Given the description of an element on the screen output the (x, y) to click on. 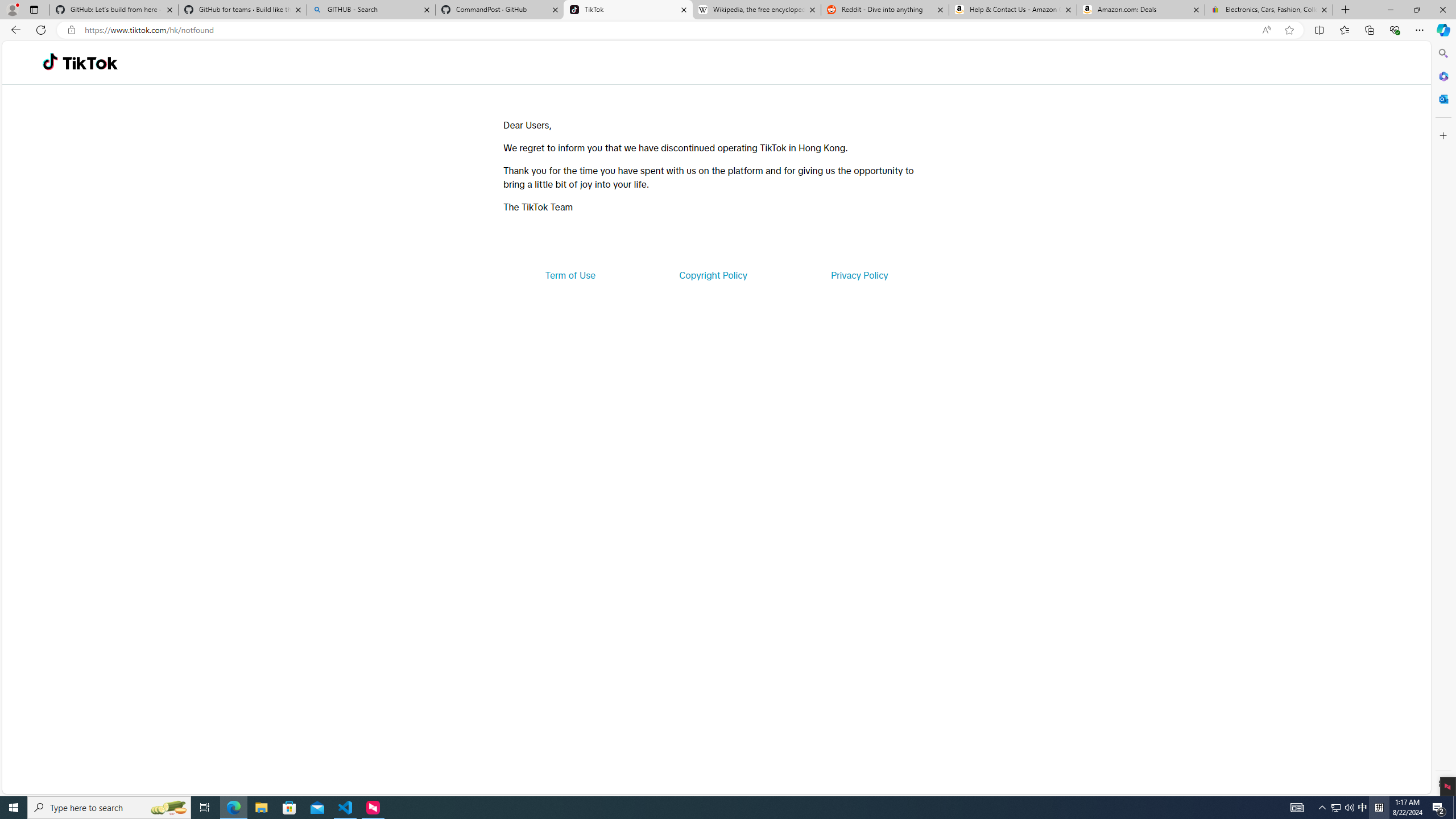
Term of Use (569, 274)
TikTok (89, 62)
Amazon.com: Deals (1140, 9)
